Given the description of an element on the screen output the (x, y) to click on. 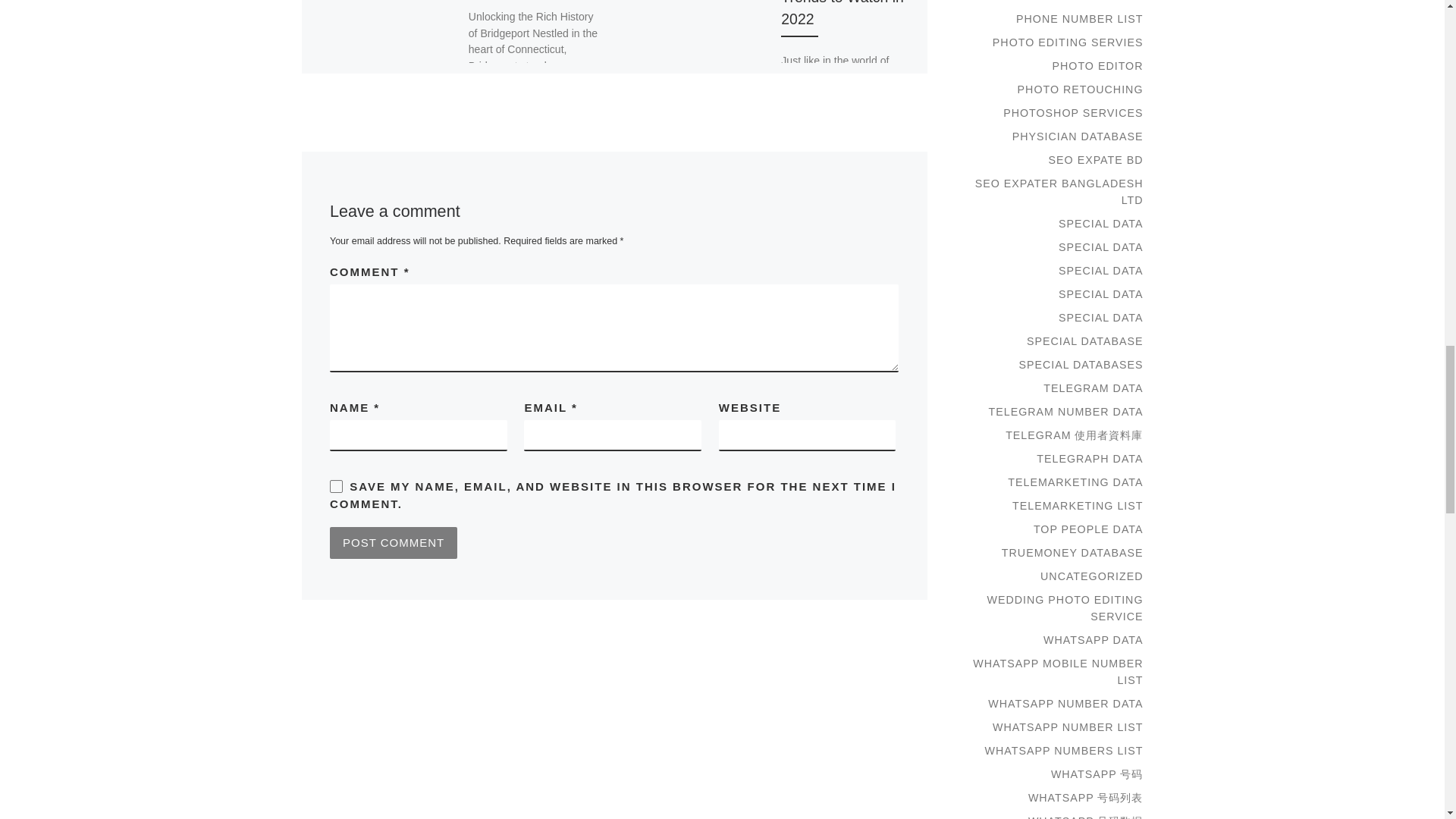
yes (336, 486)
Post Comment (393, 542)
of the Most Important Tiktok Trends to Watch in 2022 (842, 13)
